Given the description of an element on the screen output the (x, y) to click on. 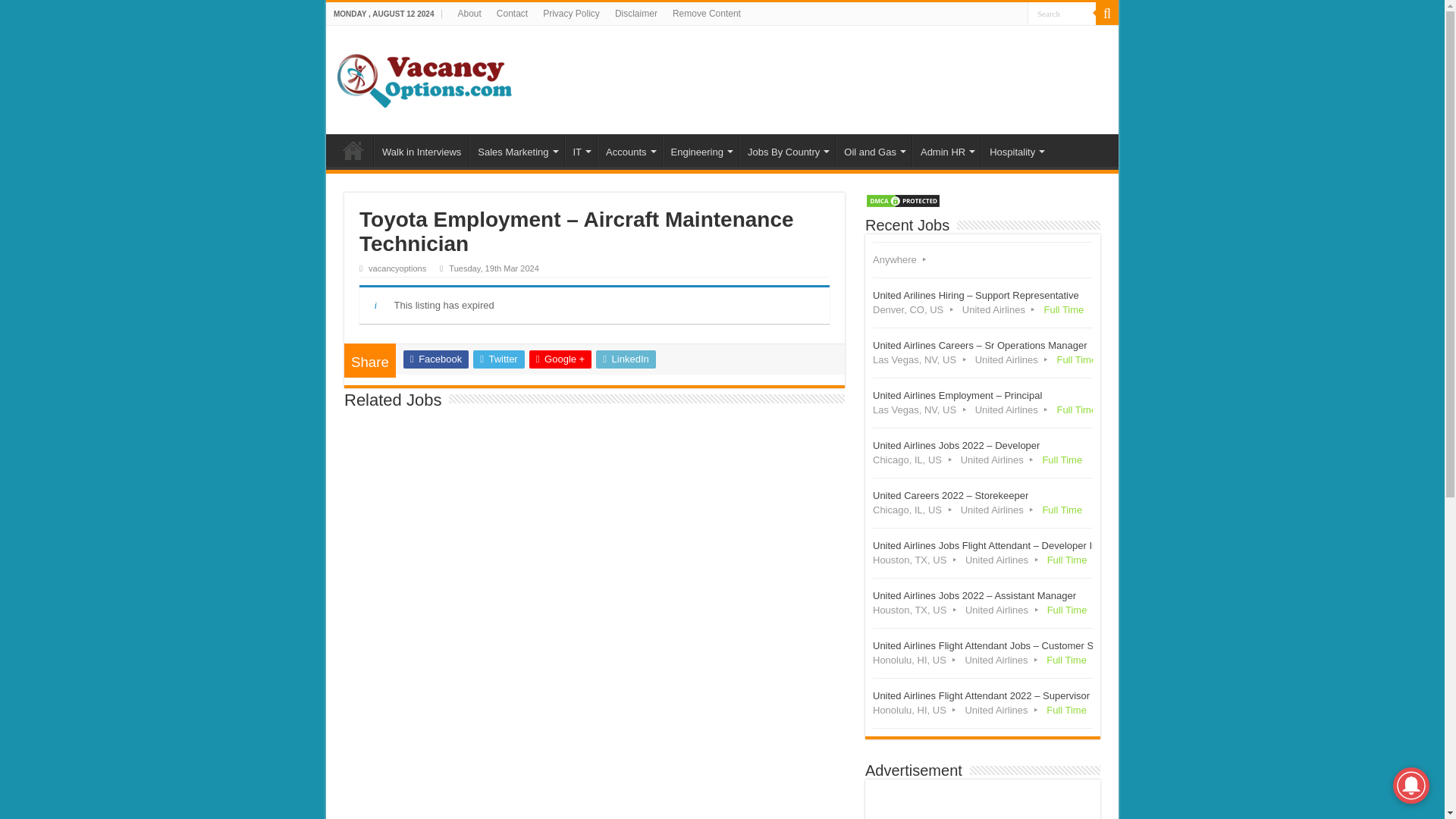
Search (1061, 13)
Latest Job Vacancies in the USA, UK and Worldwide (424, 76)
Search (1061, 13)
Advertisement (982, 803)
Search (1061, 13)
Content Protection by DMCA.com (902, 199)
